Given the description of an element on the screen output the (x, y) to click on. 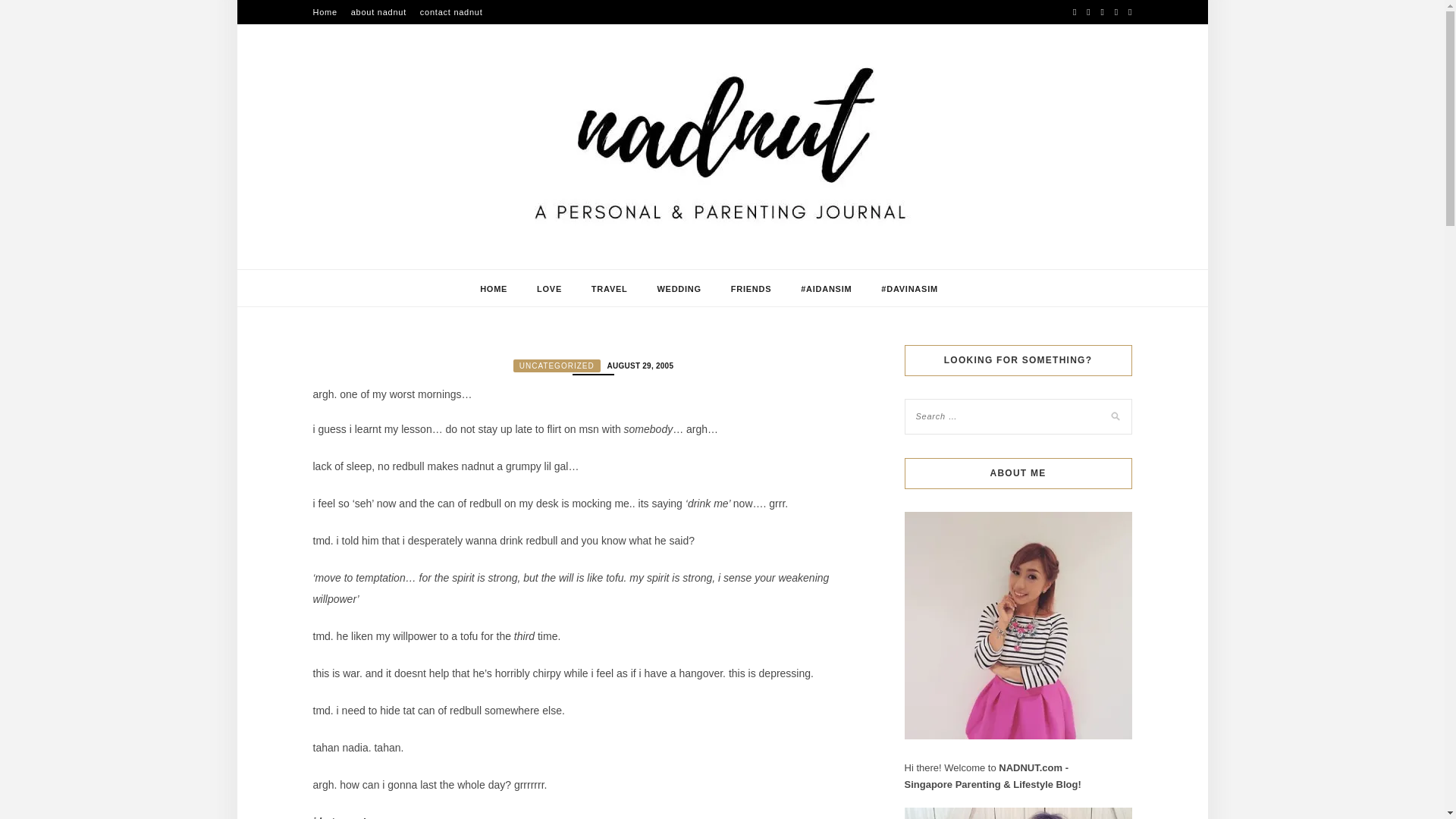
LOVE (549, 288)
AUGUST 29, 2005 (639, 364)
Home (324, 12)
contact nadnut (451, 12)
Search (28, 11)
about nadnut (378, 12)
WEDDING (678, 288)
TRAVEL (609, 288)
HOME (493, 288)
UNCATEGORIZED (556, 365)
FRIENDS (750, 288)
